Given the description of an element on the screen output the (x, y) to click on. 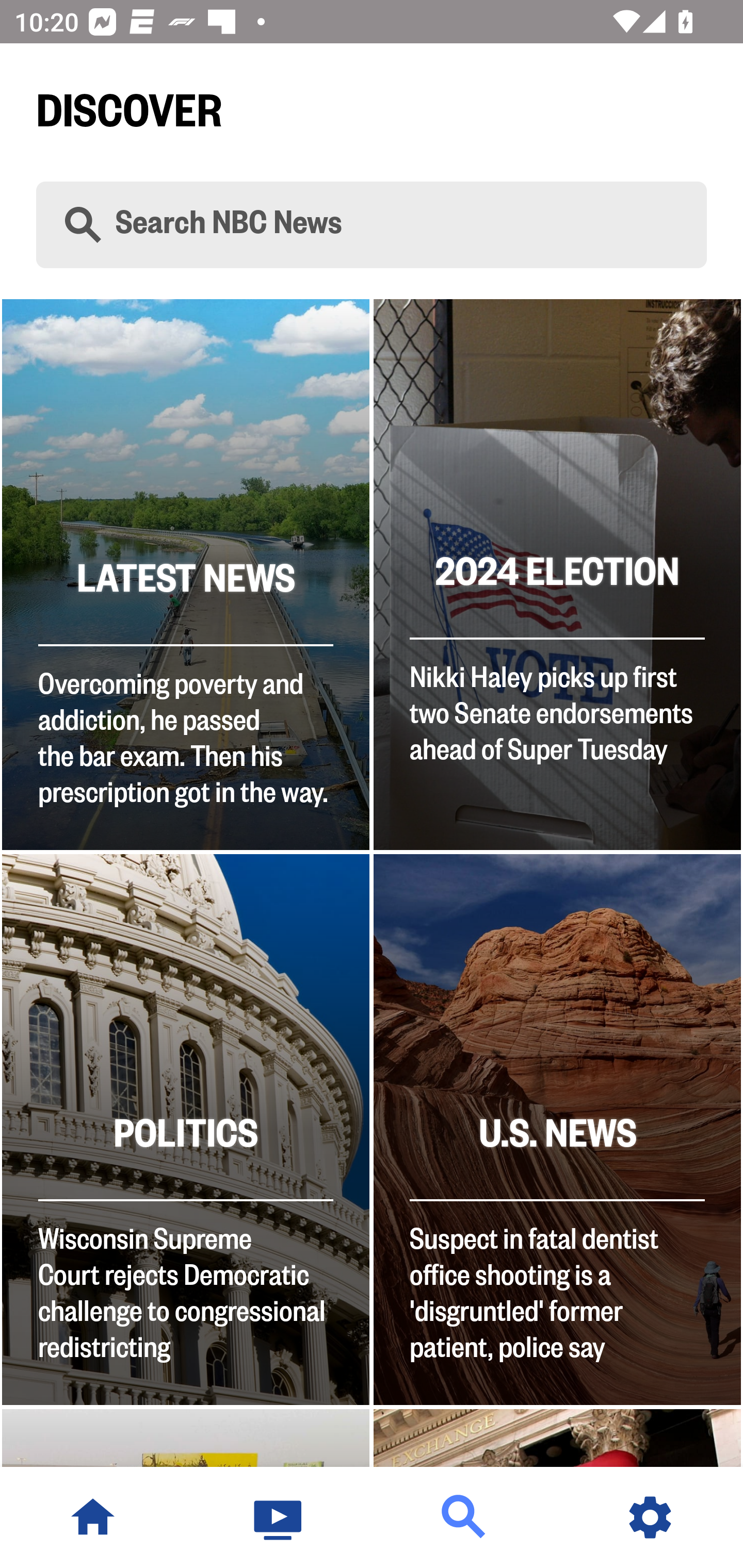
NBC News Home (92, 1517)
Watch (278, 1517)
Settings (650, 1517)
